Given the description of an element on the screen output the (x, y) to click on. 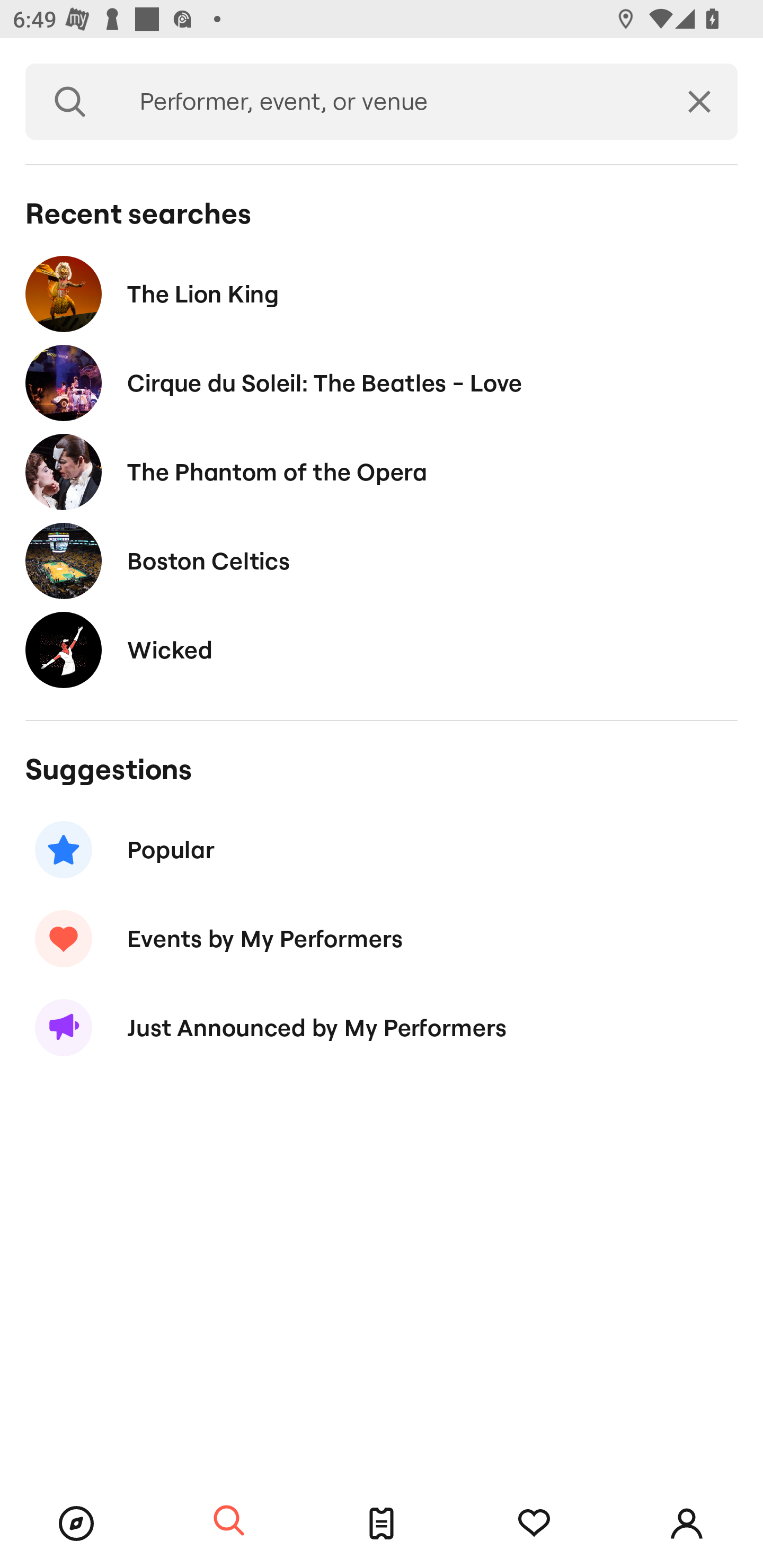
Search (69, 101)
Performer, event, or venue (387, 101)
Clear (699, 101)
The Lion King (381, 293)
Cirque du Soleil: The Beatles - Love (381, 383)
The Phantom of the Opera (381, 471)
Boston Celtics (381, 560)
Wicked (381, 649)
Popular (381, 849)
Events by My Performers (381, 938)
Just Announced by My Performers (381, 1027)
Browse (76, 1523)
Search (228, 1521)
Tickets (381, 1523)
Tracking (533, 1523)
Account (686, 1523)
